Given the description of an element on the screen output the (x, y) to click on. 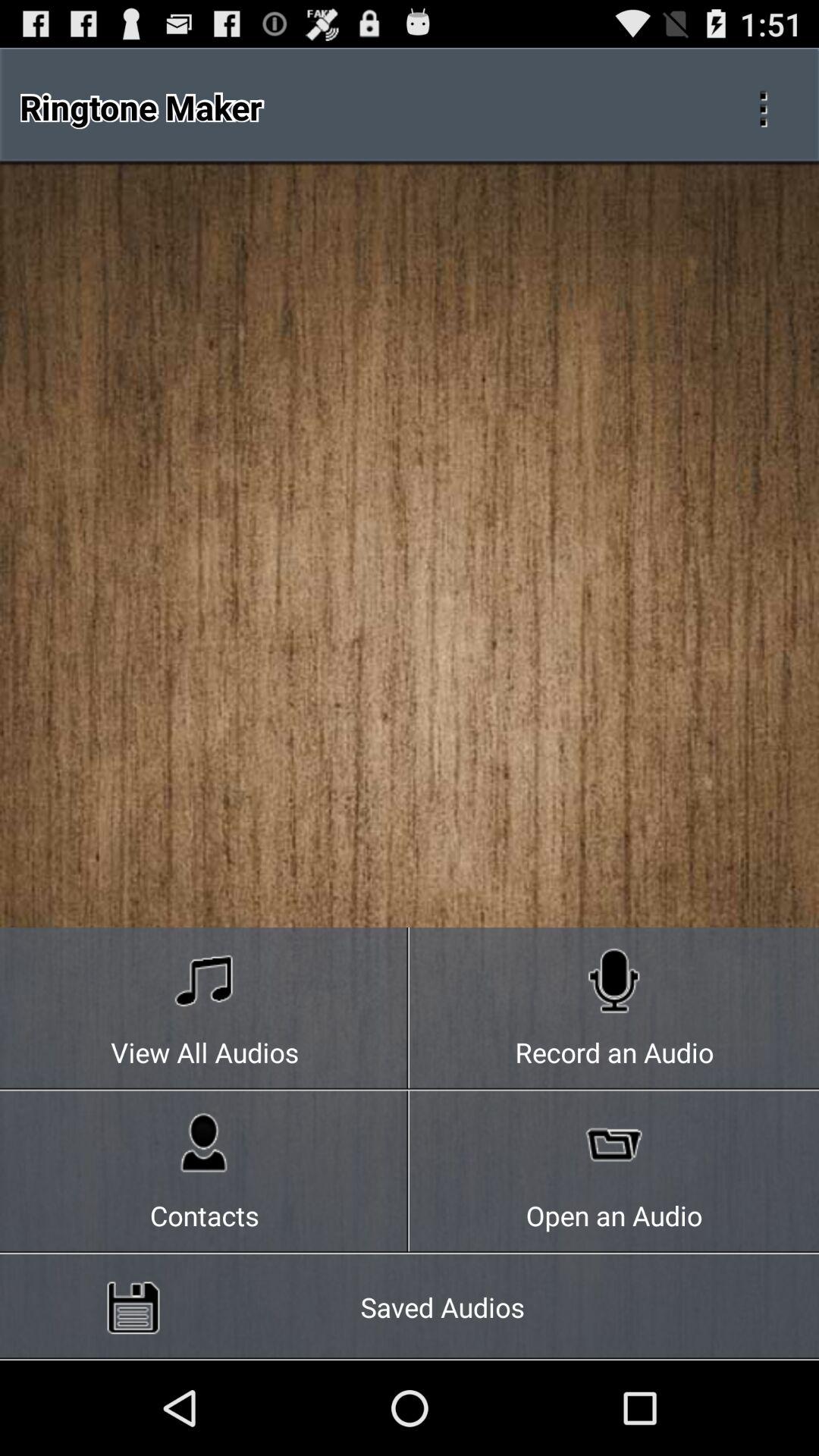
turn on the icon below the contacts icon (409, 1307)
